Given the description of an element on the screen output the (x, y) to click on. 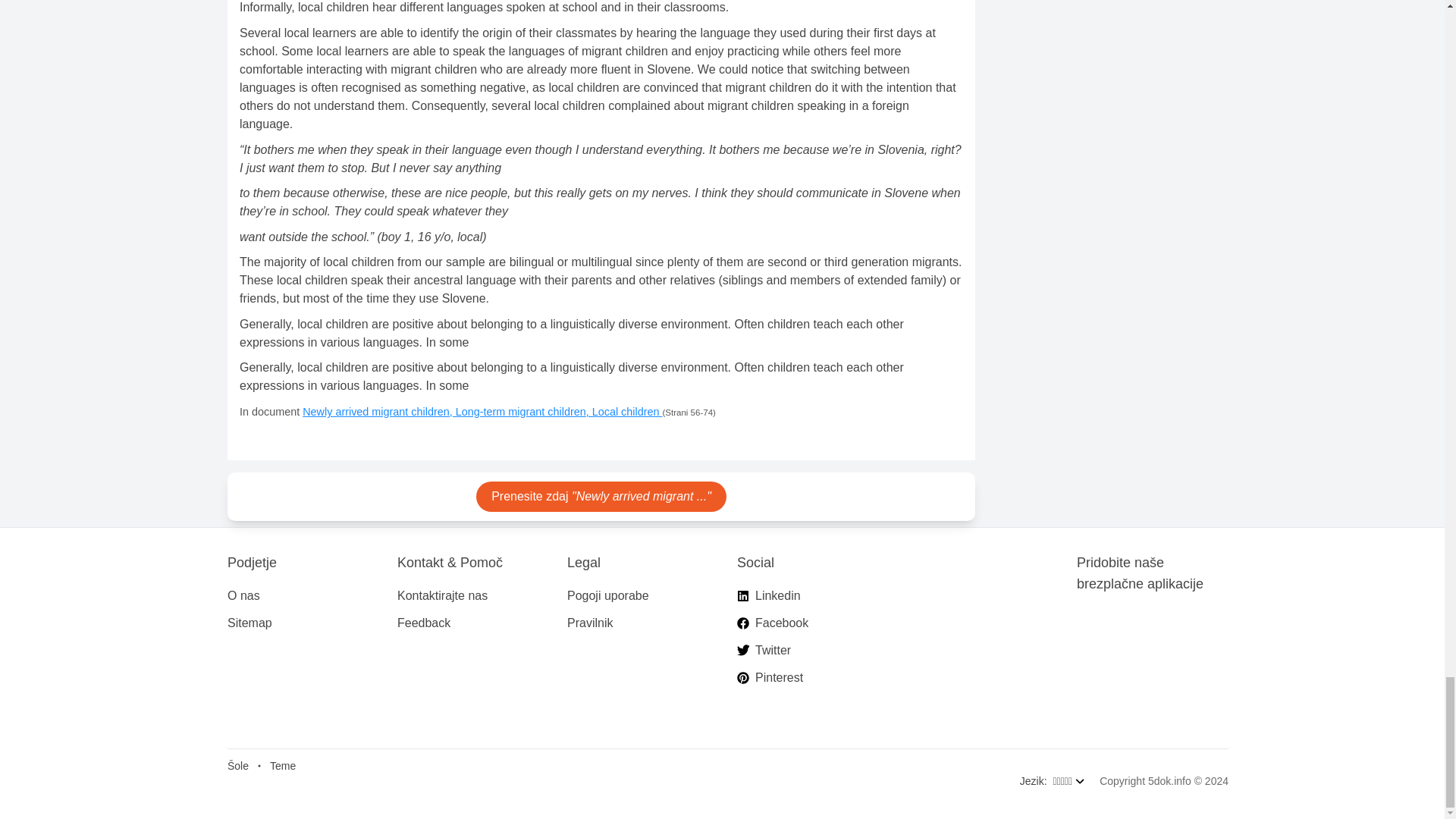
Pinterest (779, 677)
Feedback (423, 622)
Twitter (772, 650)
Linkedin (777, 595)
Pogoji uporabe (608, 595)
O nas (243, 595)
Kontaktirajte nas (442, 595)
language (1068, 786)
Pravilnik (589, 623)
